Given the description of an element on the screen output the (x, y) to click on. 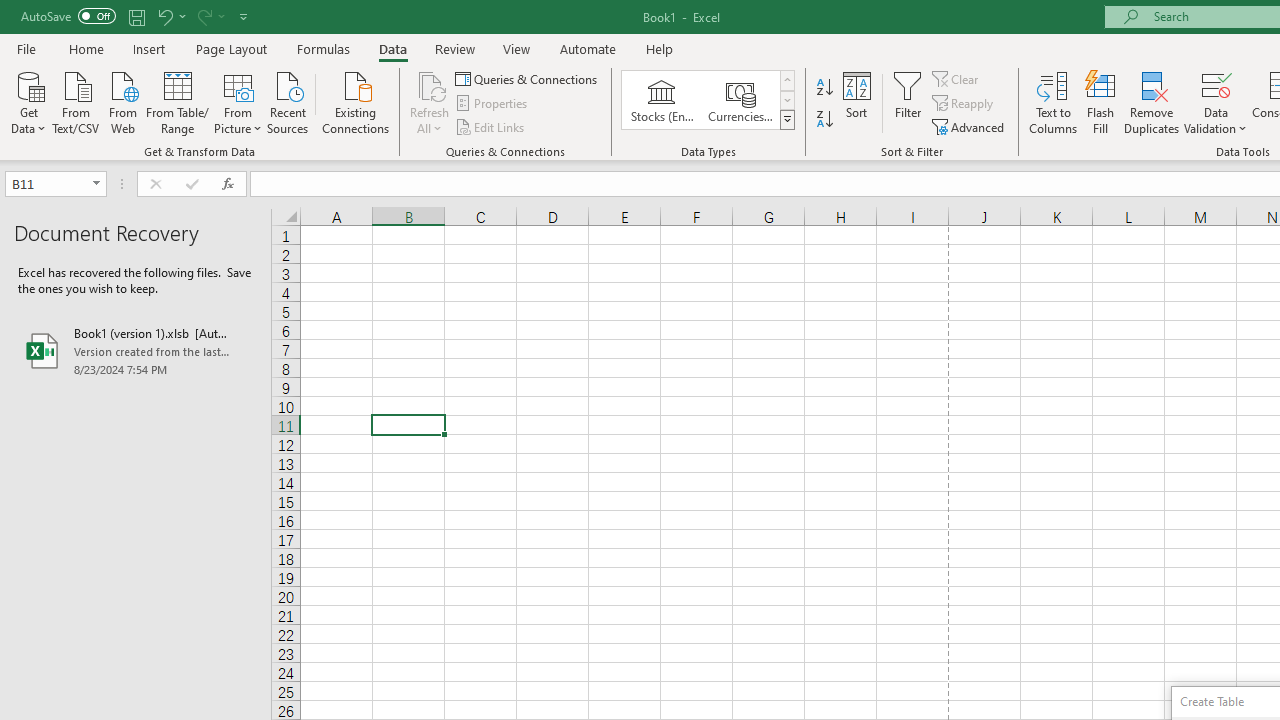
Get Data (28, 101)
Sort Z to A (824, 119)
Data Types (786, 120)
From Table/Range (177, 101)
Properties (492, 103)
AutomationID: ConvertToLinkedEntity (708, 99)
Queries & Connections (527, 78)
